Given the description of an element on the screen output the (x, y) to click on. 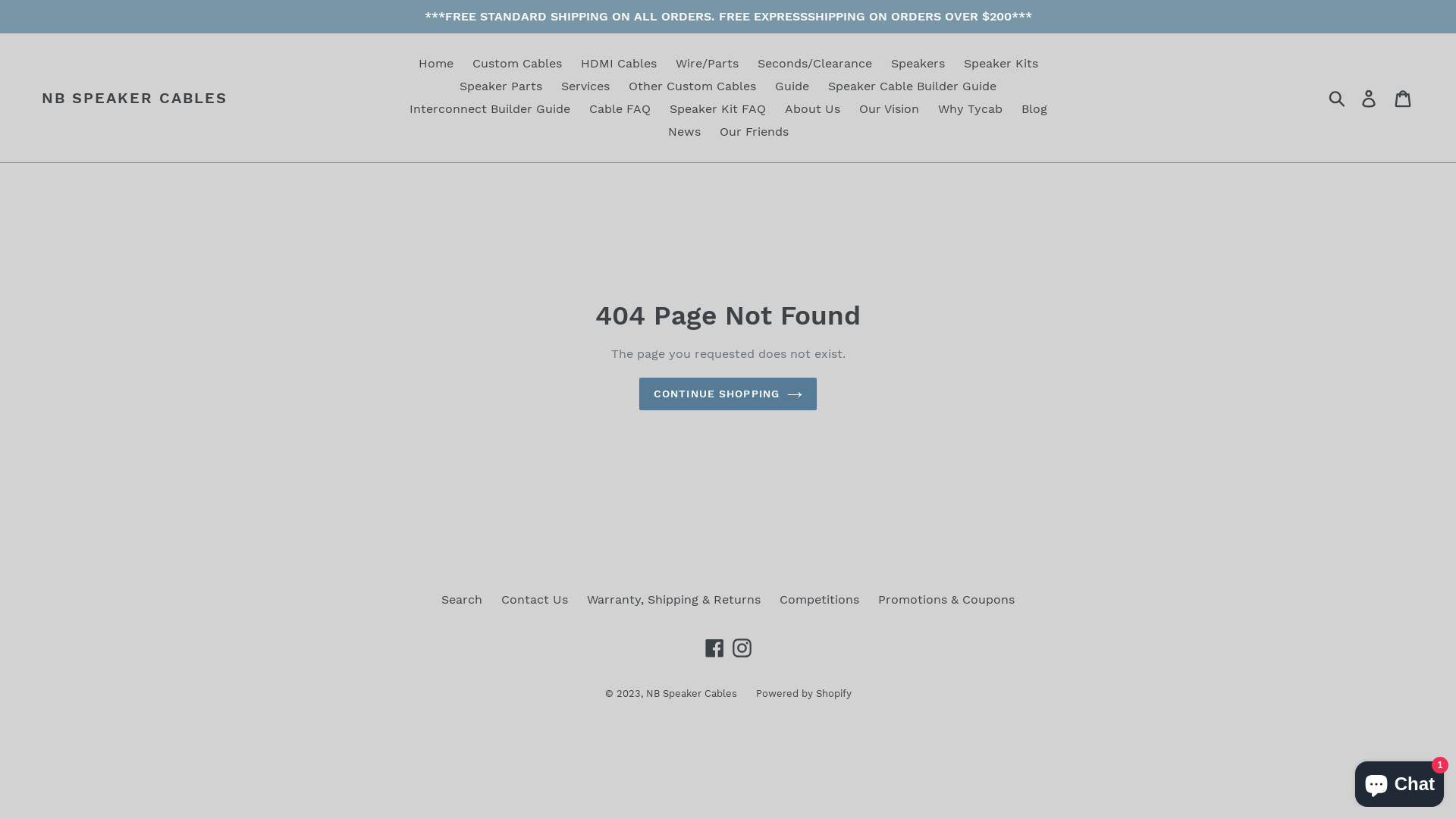
Speaker Cable Builder Guide Element type: text (912, 86)
NB Speaker Cables Element type: text (691, 693)
Speaker Kit FAQ Element type: text (716, 108)
Services Element type: text (585, 86)
Competitions Element type: text (819, 599)
Speakers Element type: text (916, 63)
Warranty, Shipping & Returns Element type: text (673, 599)
Facebook Element type: text (713, 647)
Log in Element type: text (1369, 98)
Guide Element type: text (791, 86)
NB SPEAKER CABLES Element type: text (134, 97)
Why Tycab Element type: text (969, 108)
Wire/Parts Element type: text (706, 63)
Speaker Kits Element type: text (999, 63)
Powered by Shopify Element type: text (802, 693)
Search Element type: text (461, 599)
Cable FAQ Element type: text (618, 108)
Shopify online store chat Element type: hover (1399, 780)
About Us Element type: text (811, 108)
Custom Cables Element type: text (516, 63)
Other Custom Cables Element type: text (692, 86)
Promotions & Coupons Element type: text (946, 599)
Our Vision Element type: text (887, 108)
Cart Element type: text (1403, 98)
Seconds/Clearance Element type: text (813, 63)
Contact Us Element type: text (534, 599)
CONTINUE SHOPPING Element type: text (727, 393)
Home Element type: text (436, 63)
Blog Element type: text (1033, 108)
HDMI Cables Element type: text (618, 63)
Instagram Element type: text (741, 647)
Submit Element type: text (1337, 97)
Speaker Parts Element type: text (500, 86)
Interconnect Builder Guide Element type: text (489, 108)
Our Friends Element type: text (753, 131)
News Element type: text (683, 131)
